Given the description of an element on the screen output the (x, y) to click on. 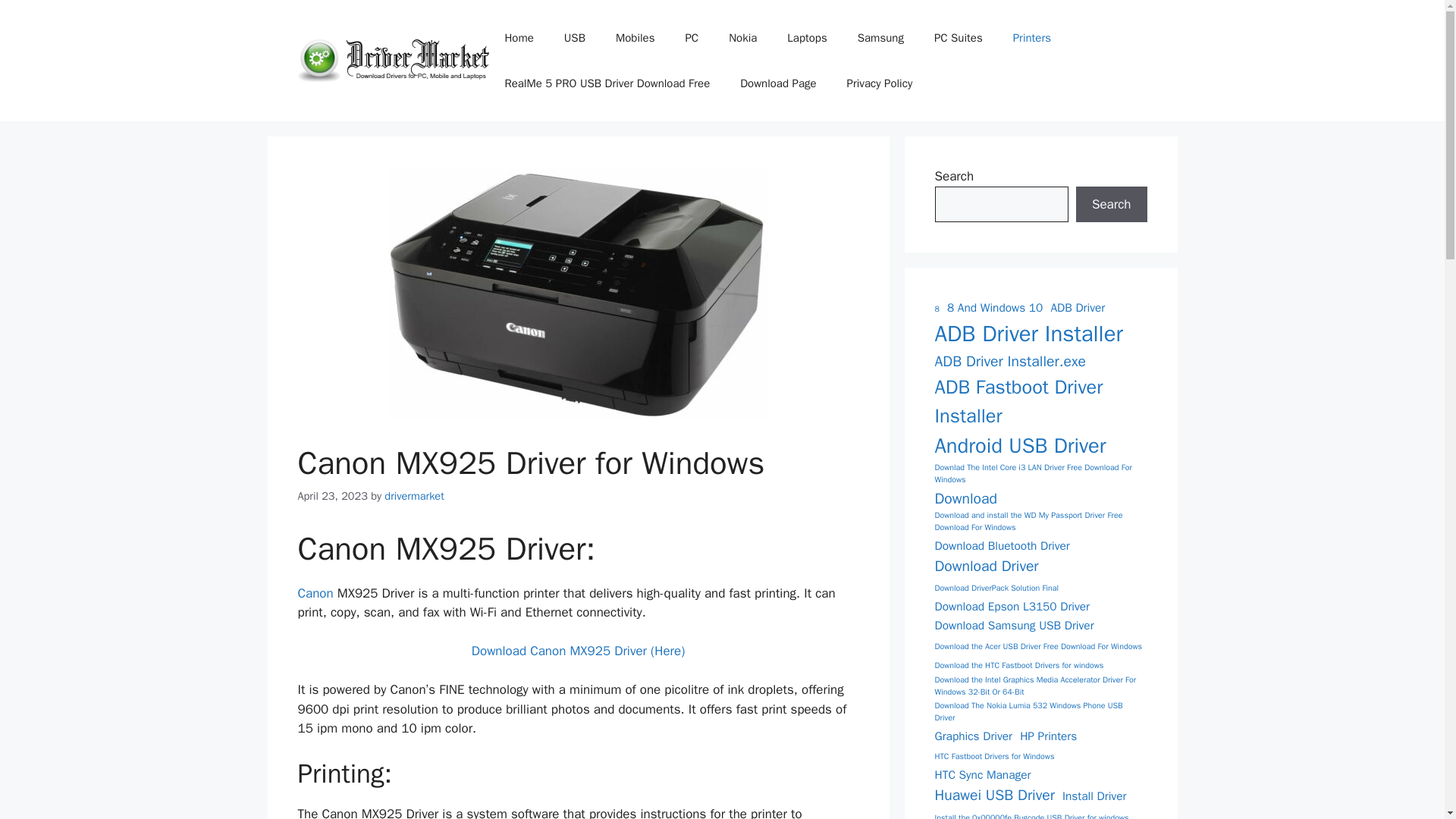
ADB Driver (1077, 307)
ADB Driver Installer.exe (1009, 361)
Canon (315, 593)
Laptops (806, 37)
Nokia (742, 37)
RealMe 5 PRO USB Driver Download Free (607, 83)
Mobiles (634, 37)
Download Bluetooth Driver (1001, 546)
Download Page (778, 83)
Android USB Driver (1019, 445)
Privacy Policy (879, 83)
Download (964, 498)
drivermarket (414, 495)
